Given the description of an element on the screen output the (x, y) to click on. 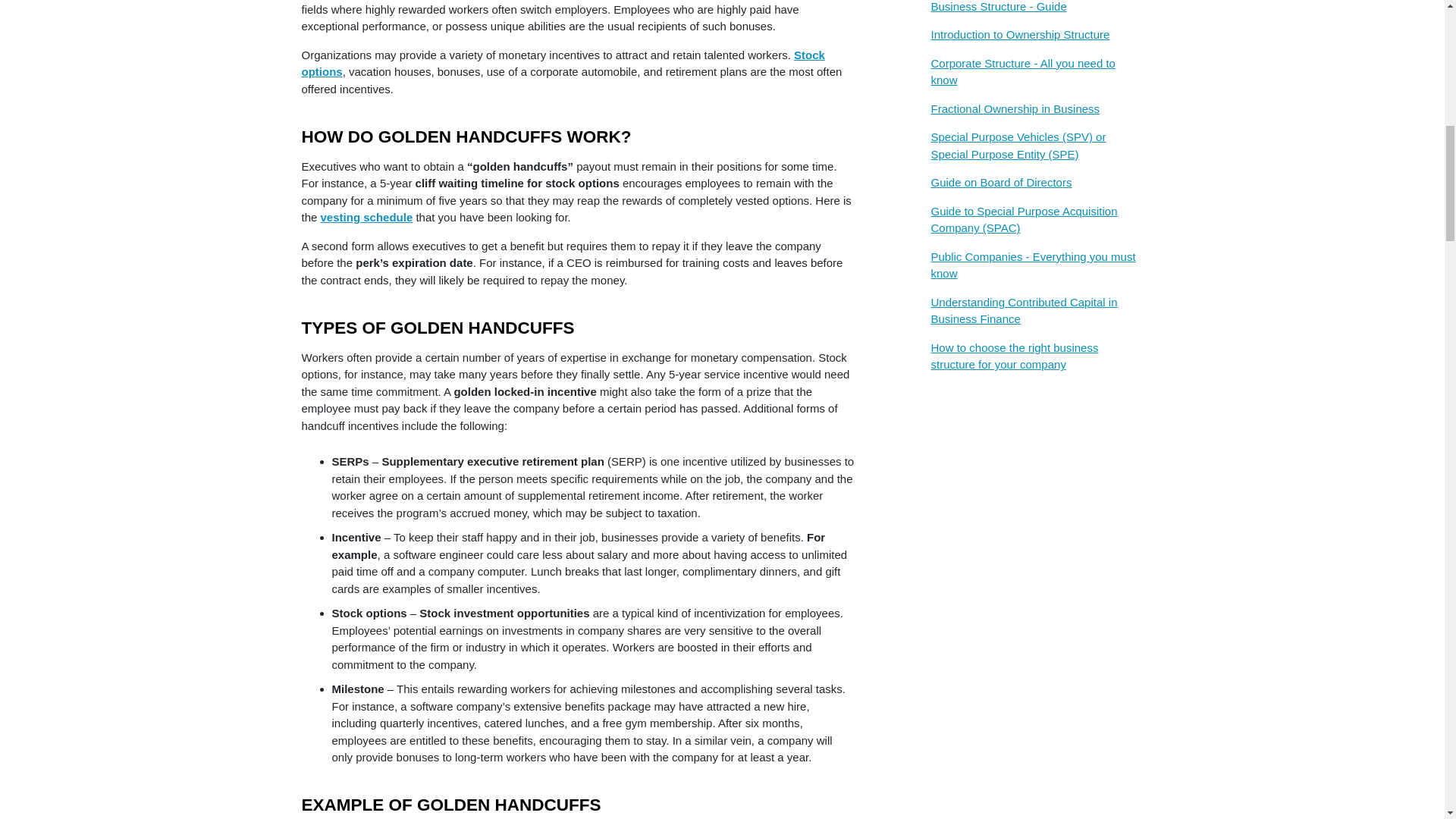
Introduction to Ownership Structure (1036, 40)
How to choose the right business structure for your company (1036, 361)
Business Structure - Guide (1036, 13)
vesting schedule (366, 216)
Corporate Structure - All you need to know (1036, 77)
Stock options (563, 63)
Understanding Contributed Capital in Business Finance (1036, 316)
Public Companies - Everything you must know (1036, 271)
Fractional Ownership in Business (1036, 114)
Guide on Board of Directors (1036, 188)
